Given the description of an element on the screen output the (x, y) to click on. 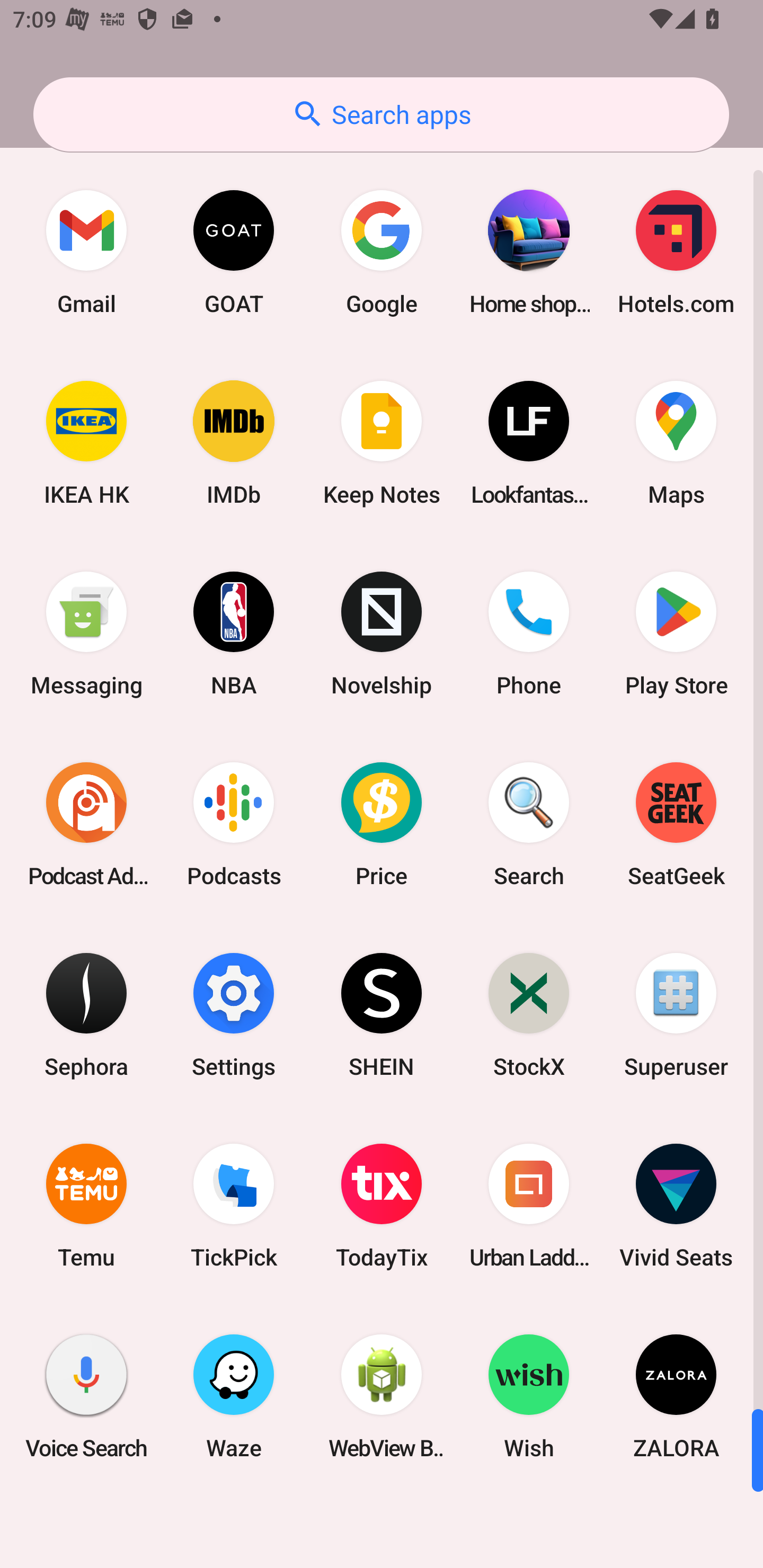
  Search apps (381, 114)
Gmail (86, 252)
GOAT (233, 252)
Google (381, 252)
Home shopping (528, 252)
Hotels.com (676, 252)
IKEA HK (86, 442)
IMDb (233, 442)
Keep Notes (381, 442)
Lookfantastic (528, 442)
Maps (676, 442)
Messaging (86, 633)
NBA (233, 633)
Novelship (381, 633)
Phone (528, 633)
Play Store (676, 633)
Podcast Addict (86, 823)
Podcasts (233, 823)
Price (381, 823)
Search (528, 823)
SeatGeek (676, 823)
Sephora (86, 1014)
Settings (233, 1014)
SHEIN (381, 1014)
StockX (528, 1014)
Superuser (676, 1014)
Temu (86, 1205)
TickPick (233, 1205)
TodayTix (381, 1205)
Urban Ladder (528, 1205)
Vivid Seats (676, 1205)
Voice Search (86, 1396)
Waze (233, 1396)
WebView Browser Tester (381, 1396)
Wish (528, 1396)
ZALORA (676, 1396)
